Given the description of an element on the screen output the (x, y) to click on. 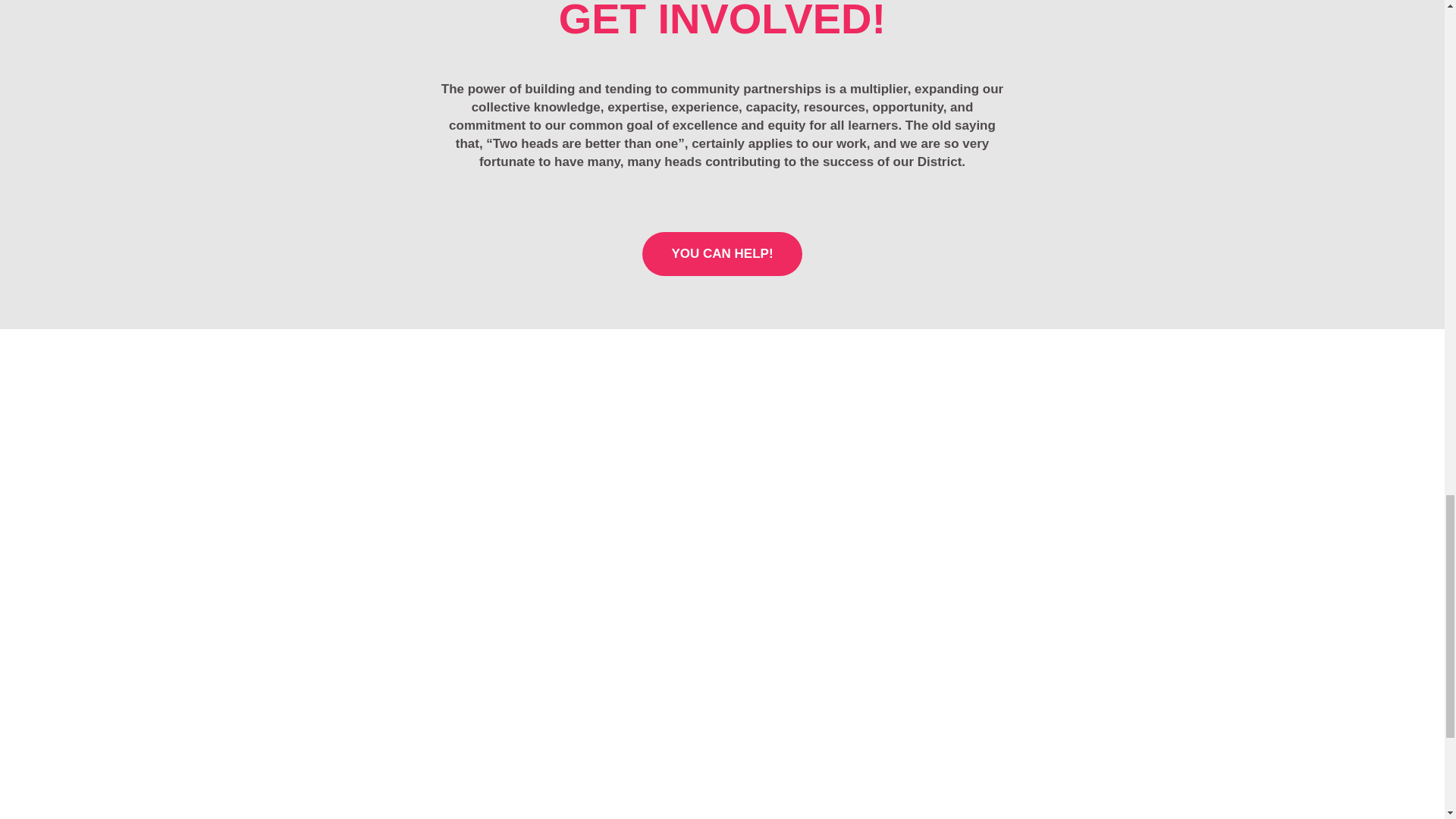
YOU CAN HELP! (722, 253)
